Given the description of an element on the screen output the (x, y) to click on. 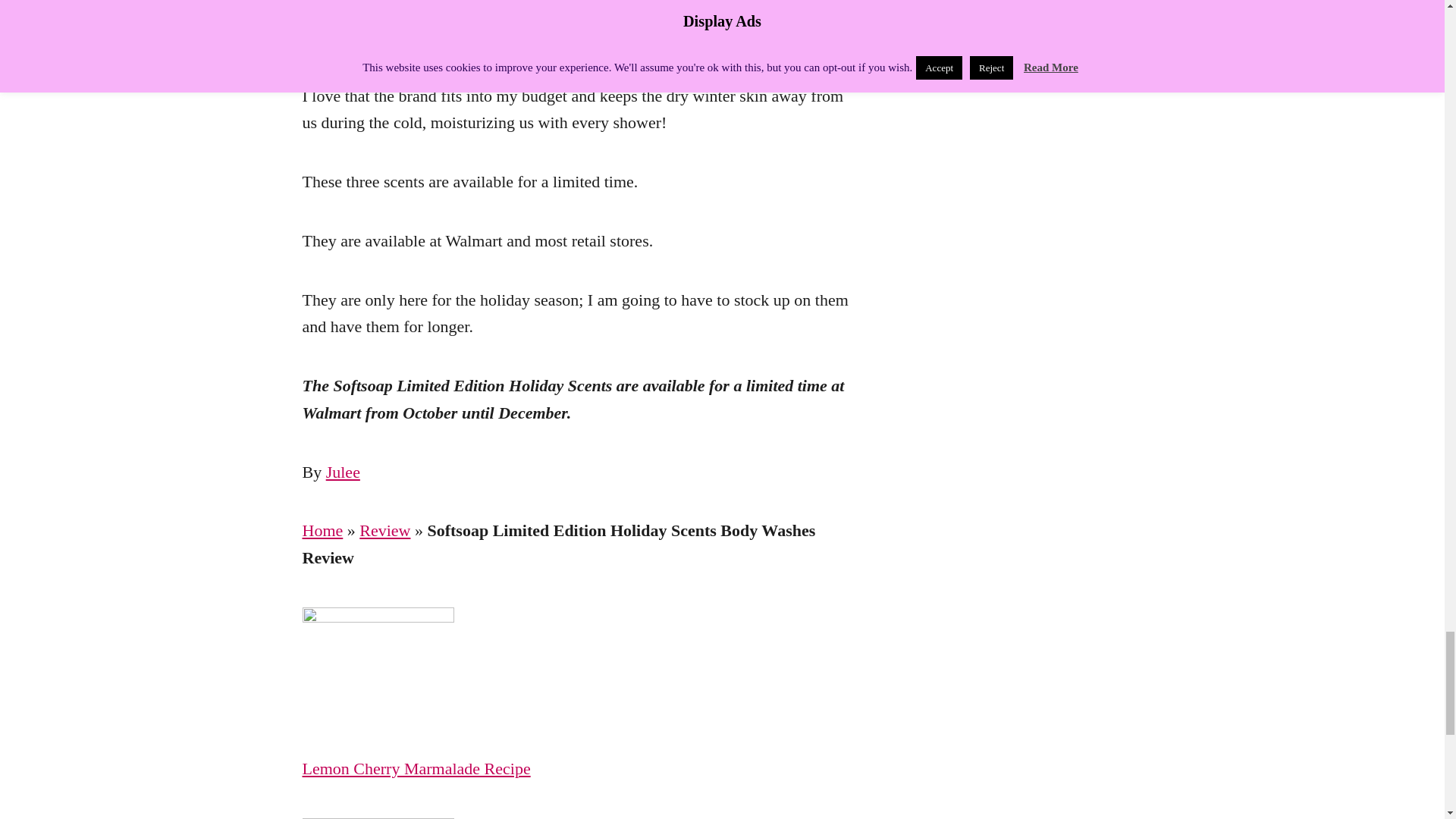
Julee (342, 471)
Review (384, 529)
Home (321, 529)
Lemon Cherry Marmalade Recipe (577, 768)
